Given the description of an element on the screen output the (x, y) to click on. 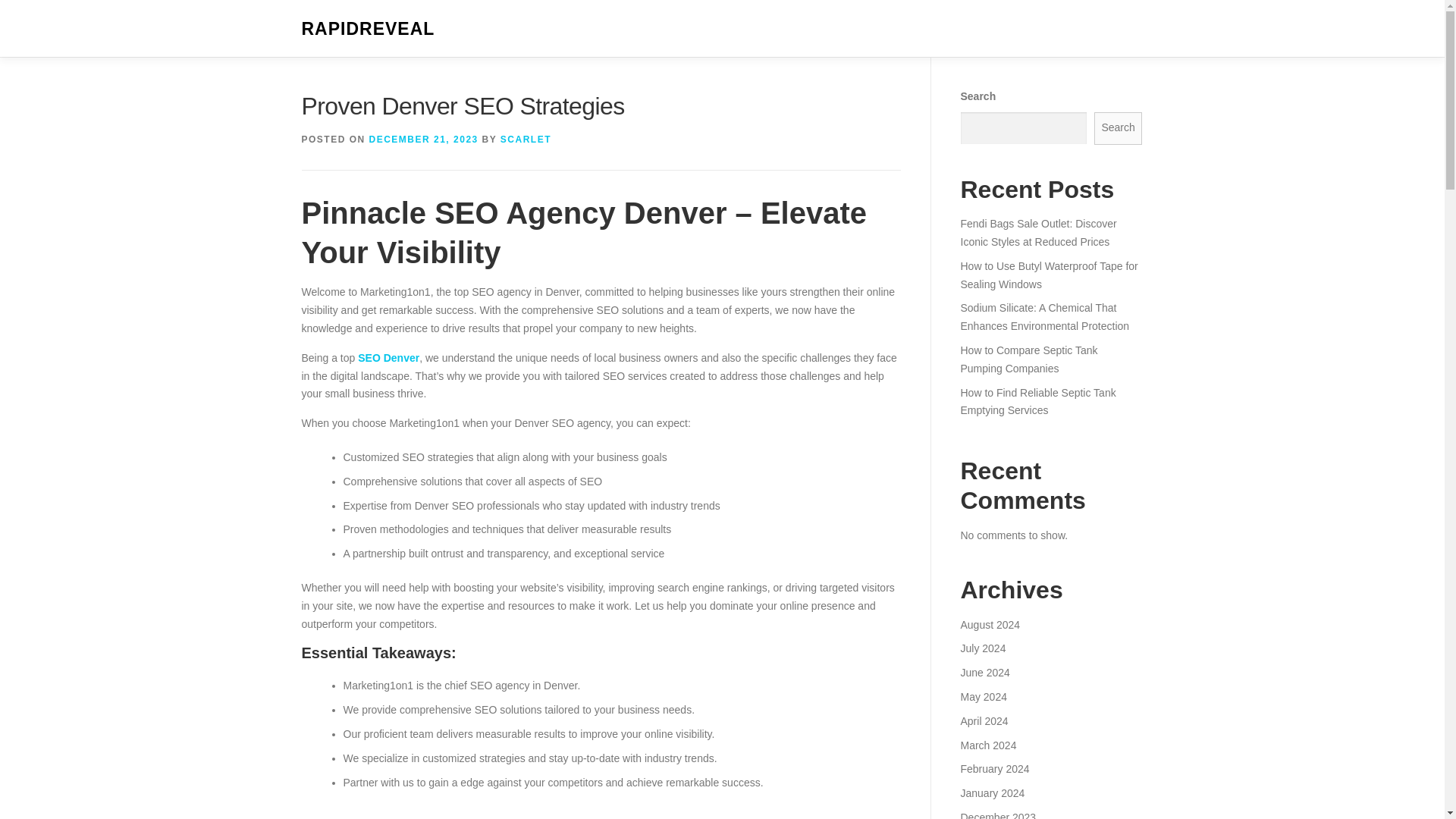
SCARLET (525, 139)
SEO Denver (388, 357)
May 2024 (982, 696)
March 2024 (987, 744)
January 2024 (992, 793)
How to Find Reliable Septic Tank Emptying Services (1037, 401)
How to Use Butyl Waterproof Tape for Sealing Windows (1048, 275)
How to Compare Septic Tank Pumping Companies (1028, 358)
